Given the description of an element on the screen output the (x, y) to click on. 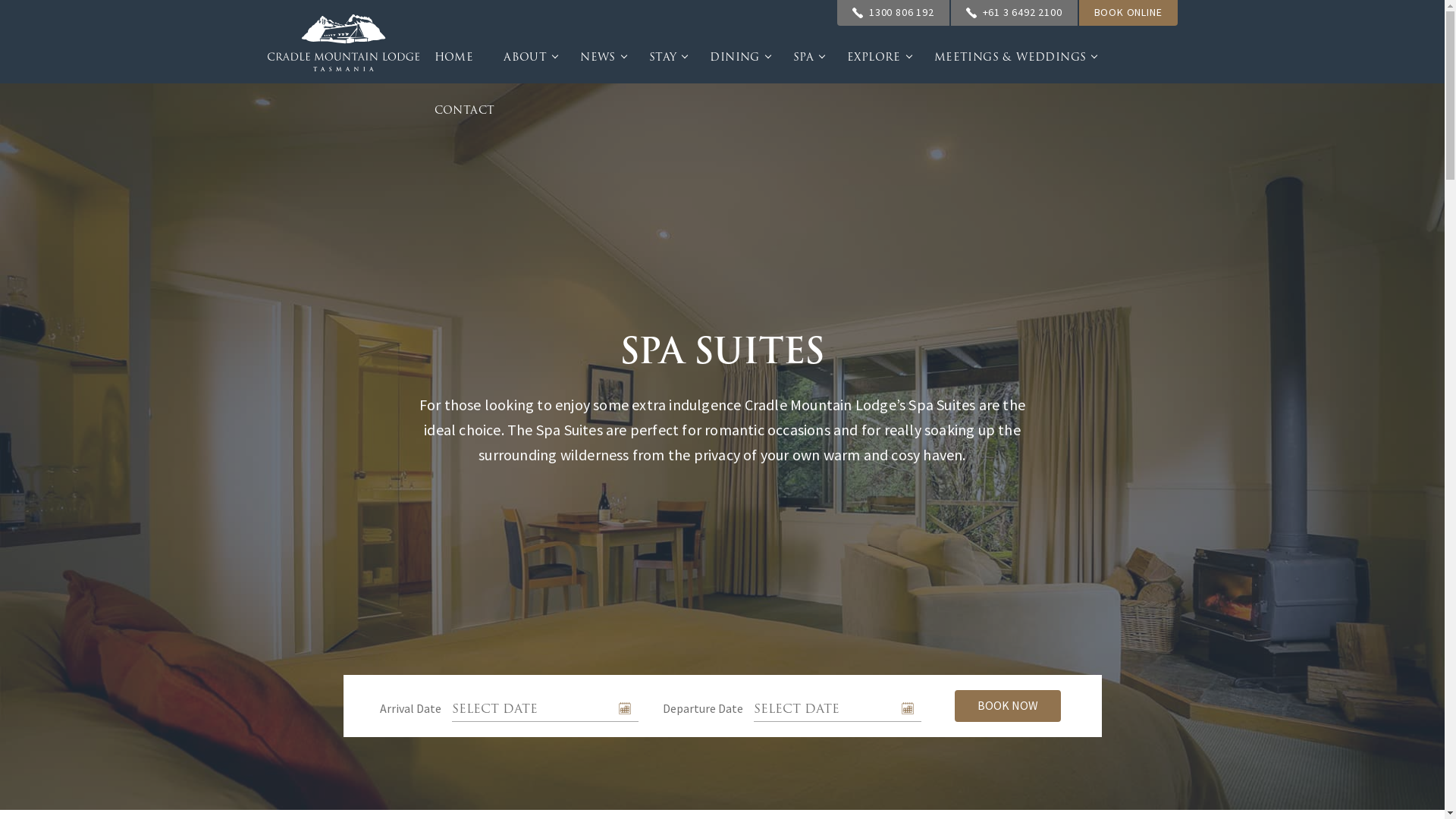
BOOK ONLINE Element type: text (1128, 12)
SPA Element type: text (804, 56)
NEWS Element type: text (598, 56)
ABOUT Element type: text (526, 56)
BOOK NOW Element type: text (1006, 705)
DINING Element type: text (735, 56)
MEETINGS & WEDDINGS Element type: text (1011, 56)
HOME Element type: text (453, 56)
EXPLORE Element type: text (875, 56)
STAY Element type: text (664, 56)
CONTACT Element type: text (456, 109)
